Given the description of an element on the screen output the (x, y) to click on. 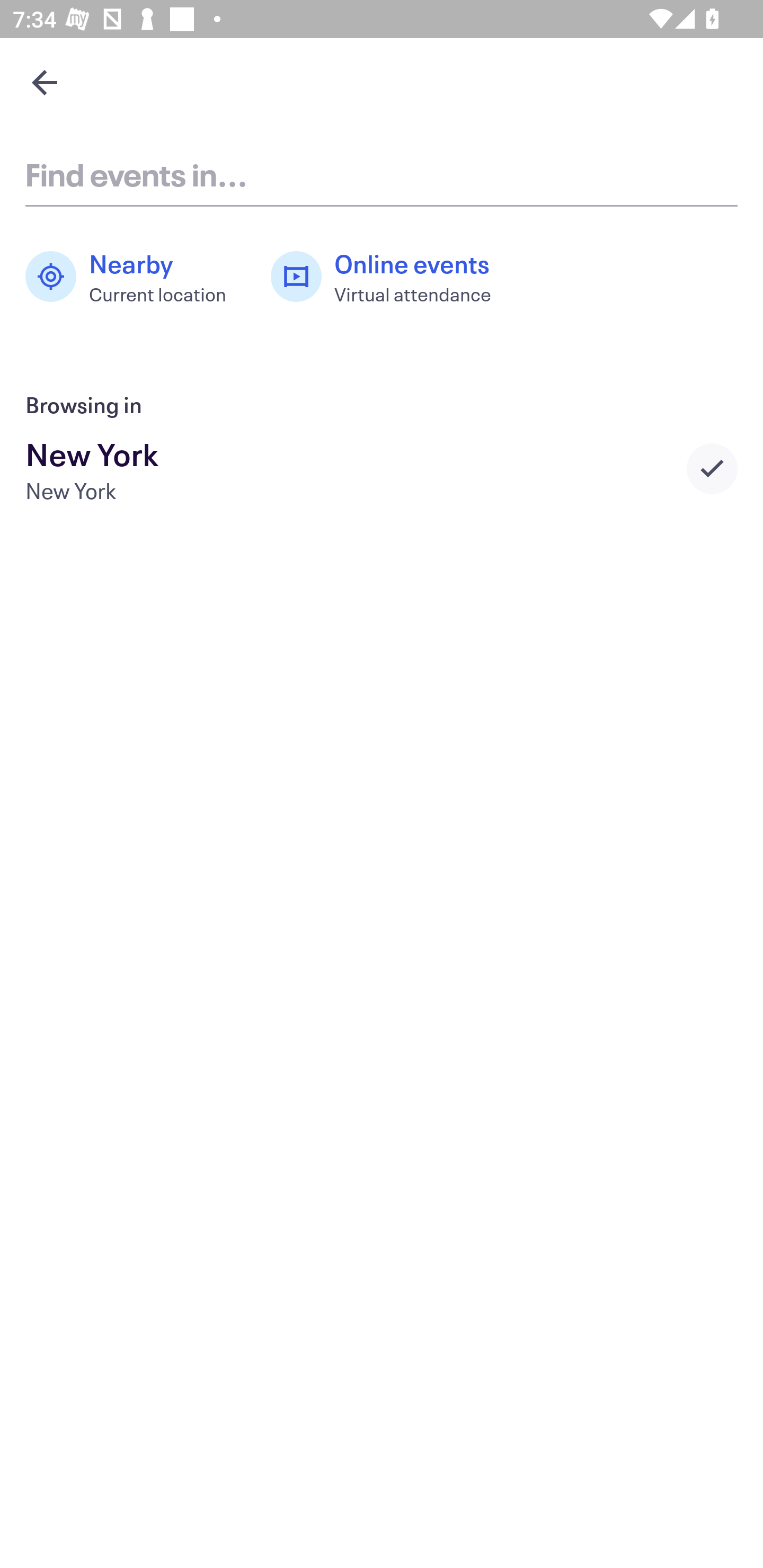
Navigate up (44, 82)
Find events in... (381, 173)
Nearby Current location (135, 276)
Online events Virtual attendance (390, 276)
New York New York Selected city (381, 468)
